Given the description of an element on the screen output the (x, y) to click on. 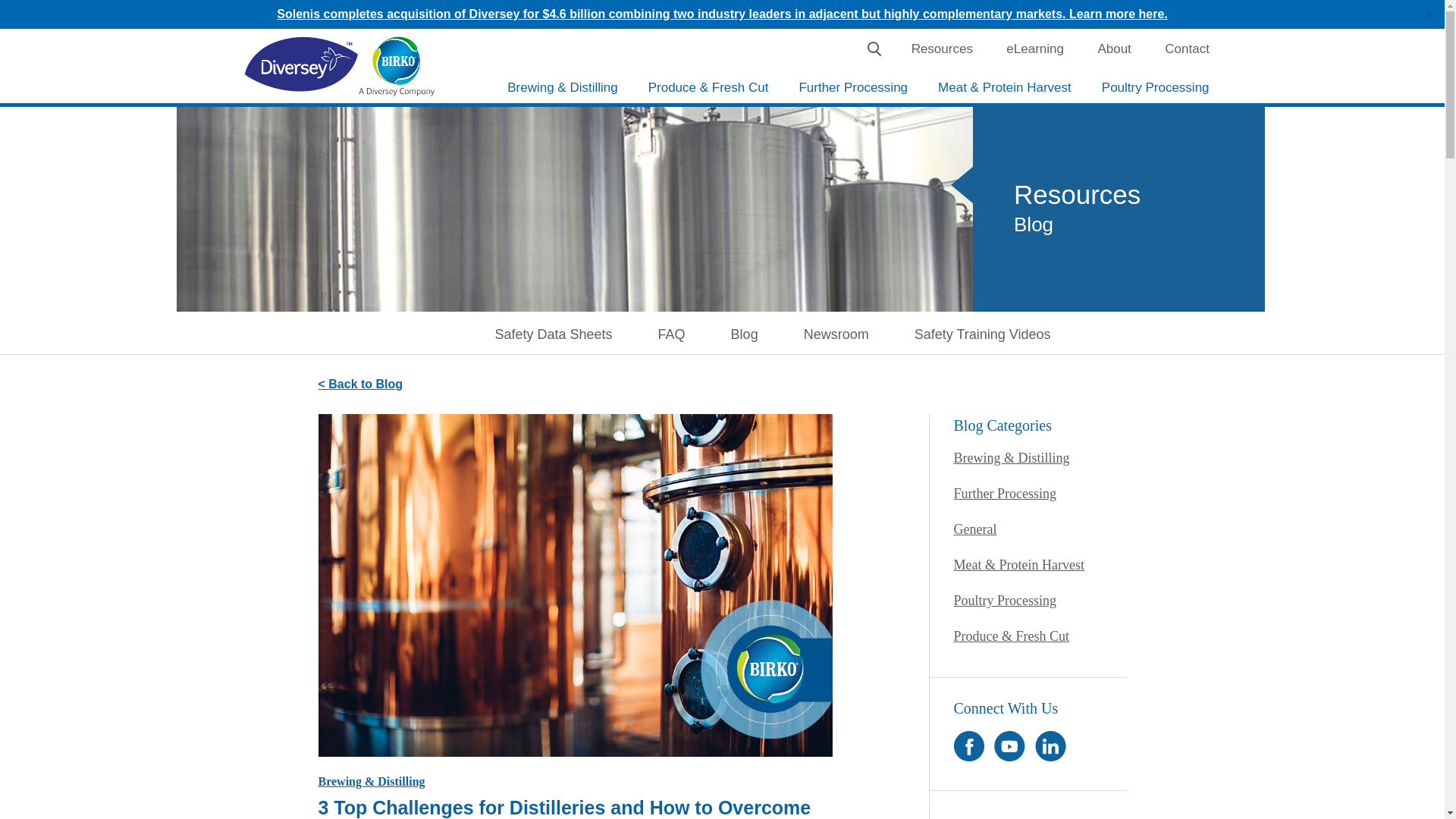
home (395, 66)
youtube (1009, 746)
Search (873, 48)
Resources (941, 47)
Diversey (301, 65)
facebook (968, 746)
eLearning (1035, 47)
linkedin (1050, 746)
